Given the description of an element on the screen output the (x, y) to click on. 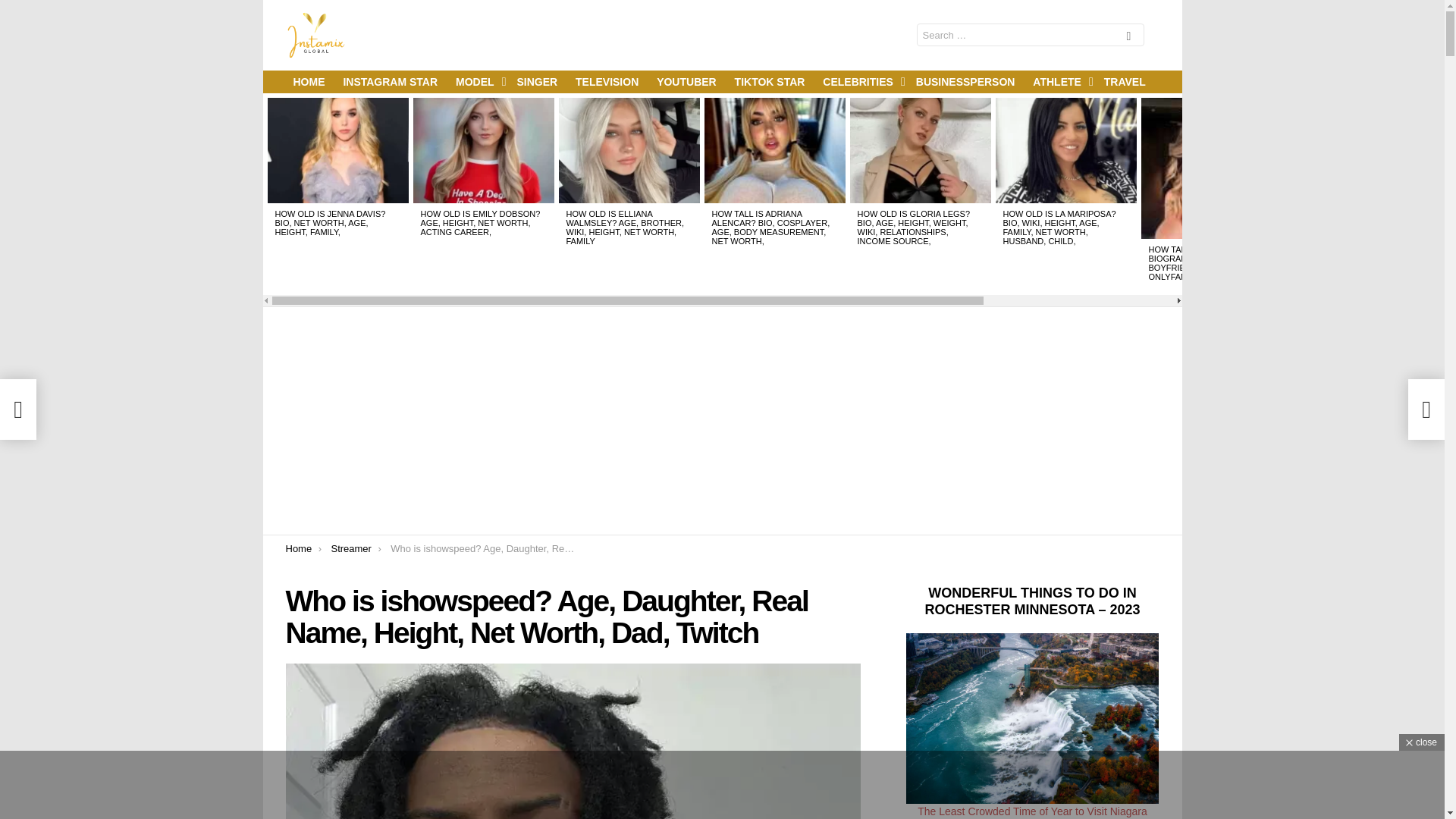
HOME (308, 81)
BUSINESSPERSON (965, 81)
TELEVISION (606, 81)
YOUTUBER (686, 81)
TRAVEL (1124, 81)
MODEL (477, 81)
SINGER (536, 81)
How Old is Jenna Davis? Bio, Net Worth, Age, Height, Family, (336, 150)
TIKTOK STAR (769, 81)
ATHLETE (1059, 81)
Search for: (1028, 34)
